Given the description of an element on the screen output the (x, y) to click on. 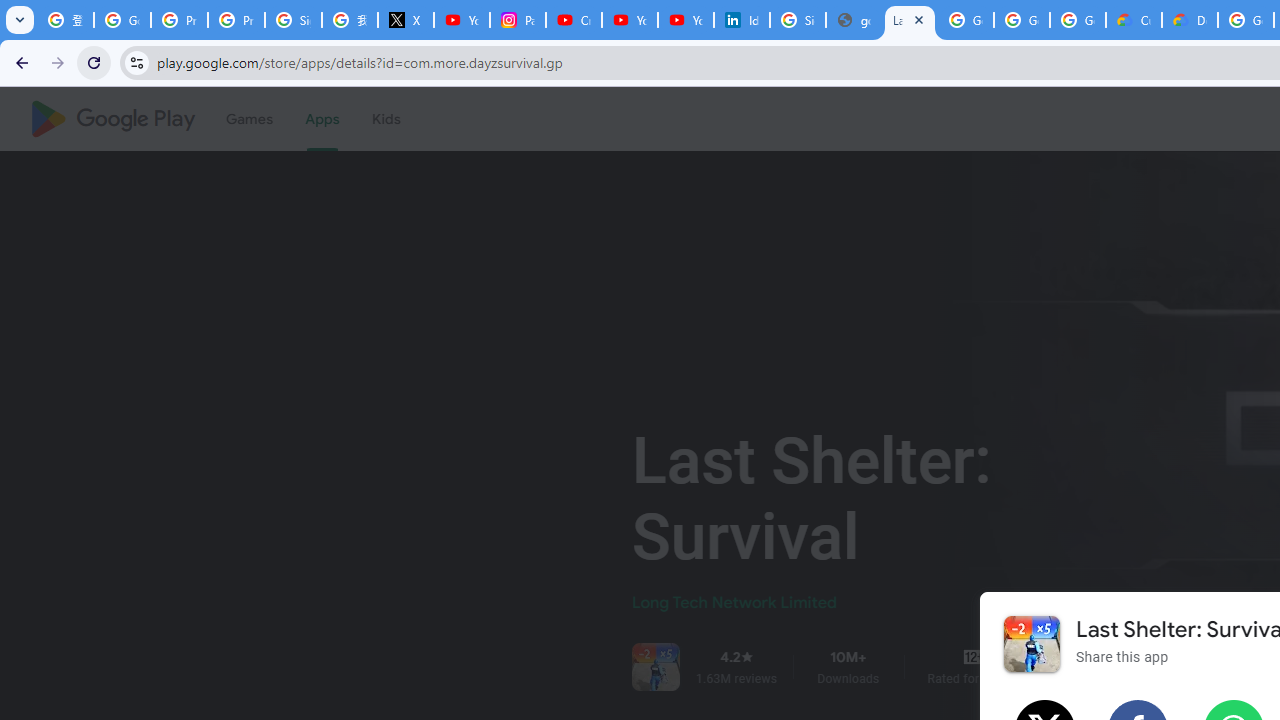
X (405, 20)
Customer Care | Google Cloud (1133, 20)
Sign in - Google Accounts (293, 20)
YouTube Content Monetization Policies - How YouTube Works (461, 20)
